Given the description of an element on the screen output the (x, y) to click on. 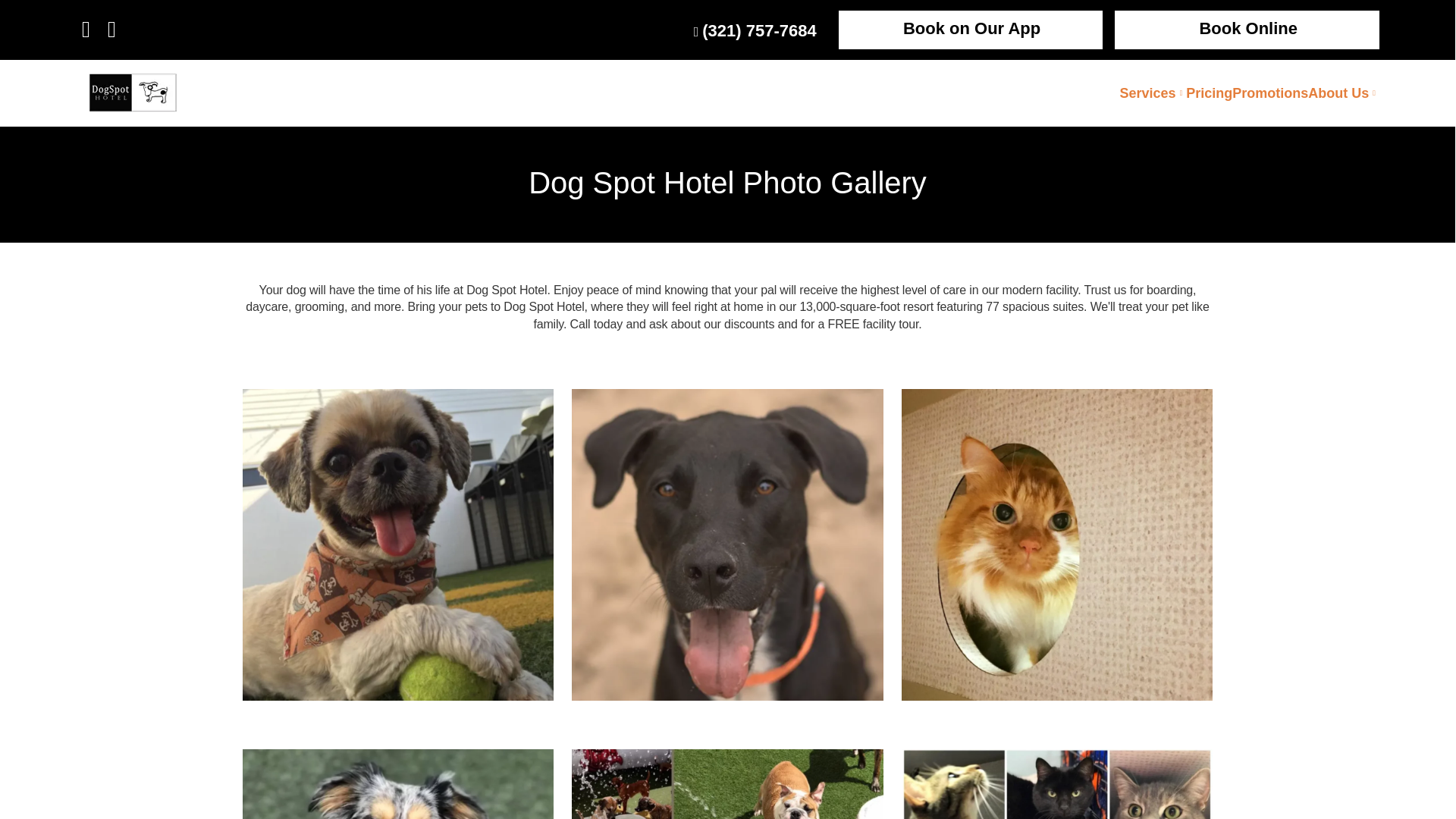
dogspot-large-logo.png (132, 92)
Services (1147, 92)
About Us (1337, 92)
Pricing (1208, 92)
Promotions (1269, 92)
Book Online (1246, 29)
Book on Our App (970, 29)
